Given the description of an element on the screen output the (x, y) to click on. 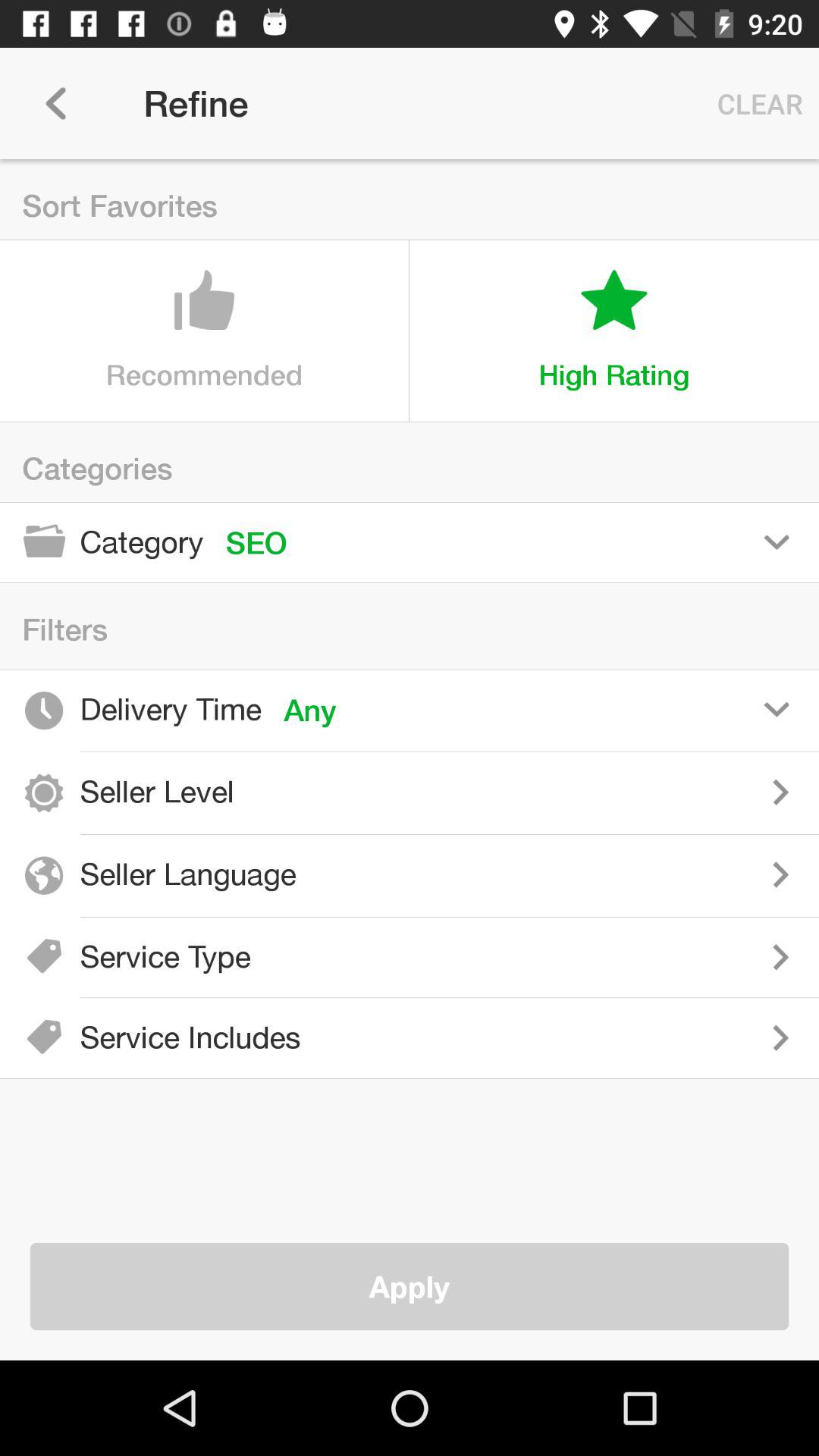
select language (568, 874)
